Given the description of an element on the screen output the (x, y) to click on. 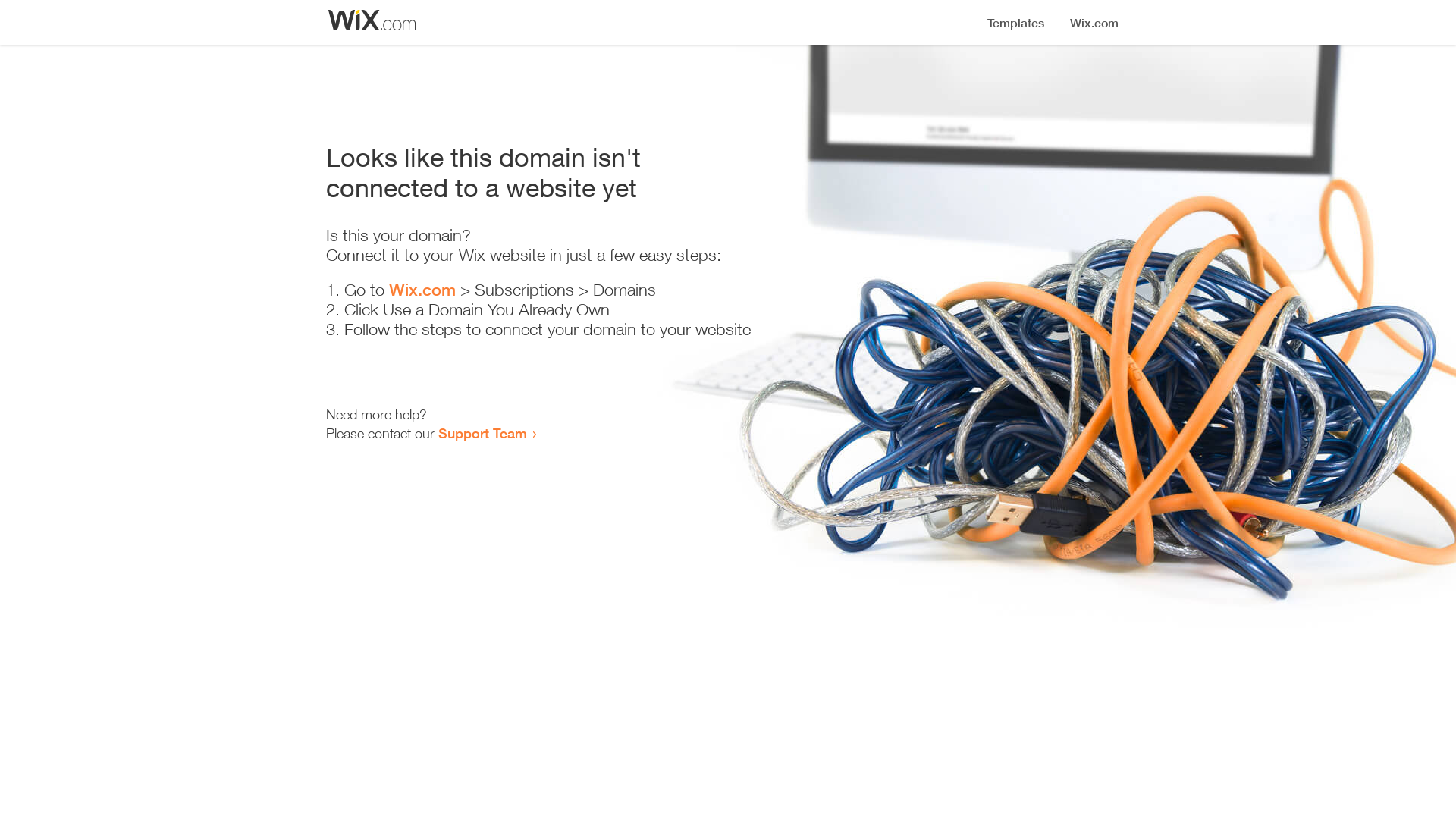
Support Team Element type: text (482, 432)
Wix.com Element type: text (422, 289)
